Given the description of an element on the screen output the (x, y) to click on. 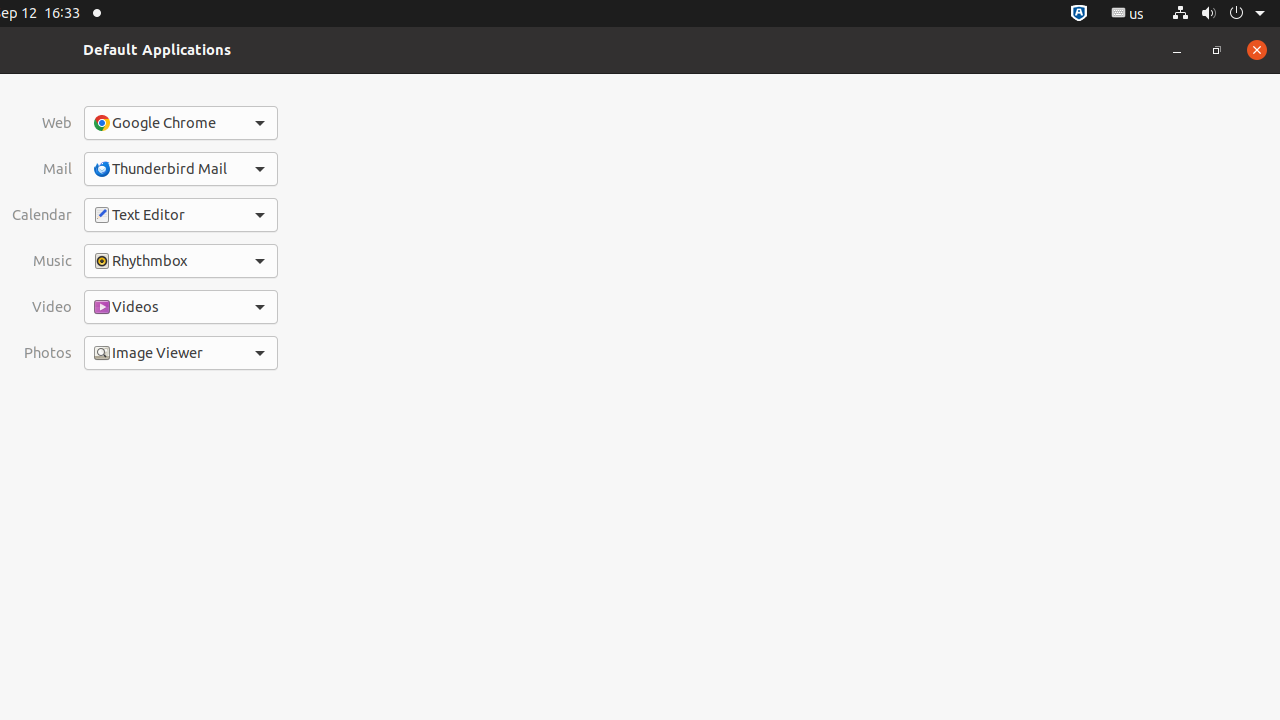
Calendar Element type: label (42, 215)
Web Element type: label (42, 123)
     Element type: label (296, 352)
Default Applications Element type: label (157, 49)
